Given the description of an element on the screen output the (x, y) to click on. 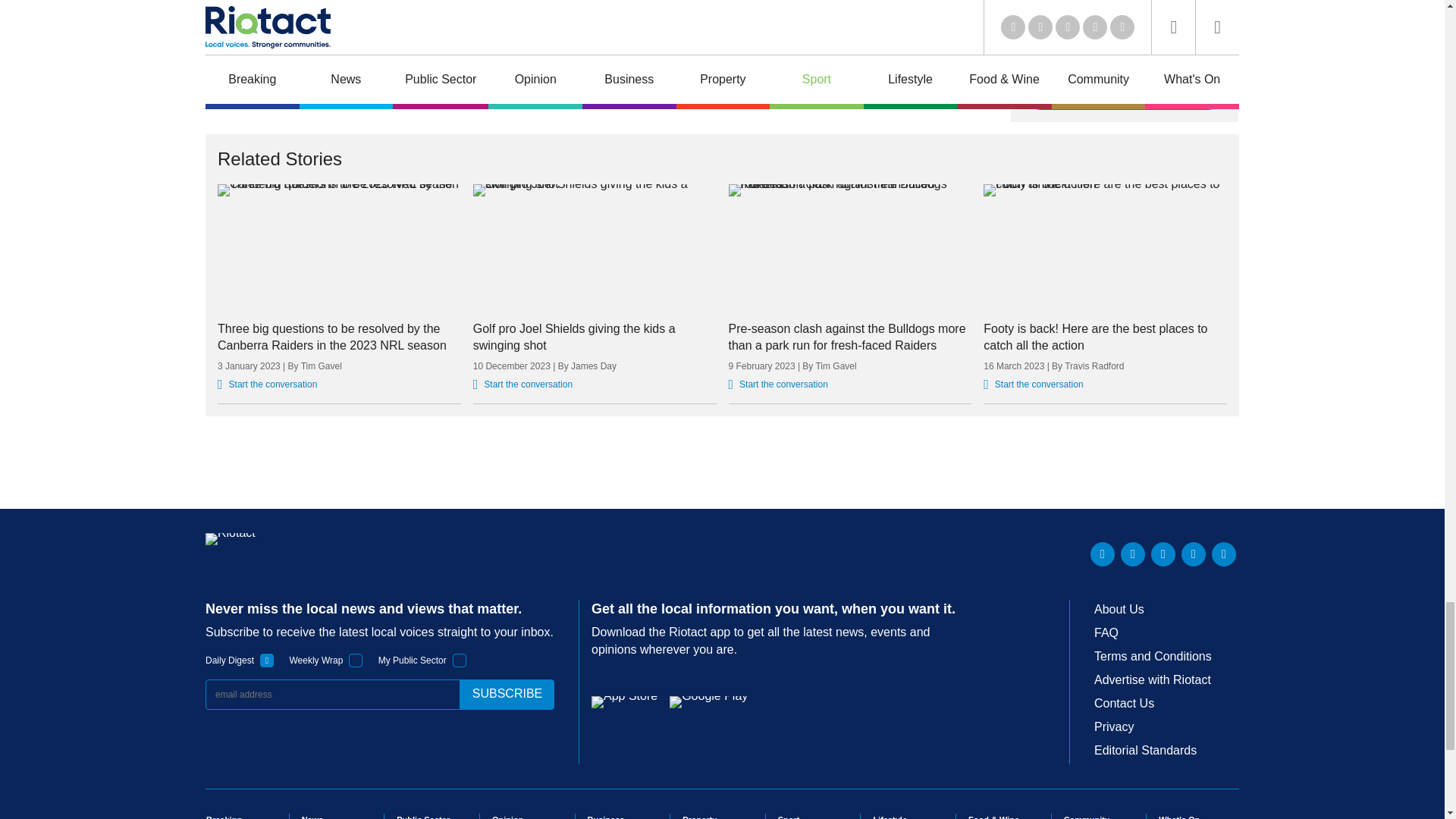
1 (266, 660)
App Store (624, 702)
1 (355, 660)
Youtube (1162, 554)
Instagram (1223, 554)
Facebook (1192, 554)
LinkedIn (1102, 554)
Twitter (1132, 554)
1 (458, 660)
subscribe (507, 694)
